Given the description of an element on the screen output the (x, y) to click on. 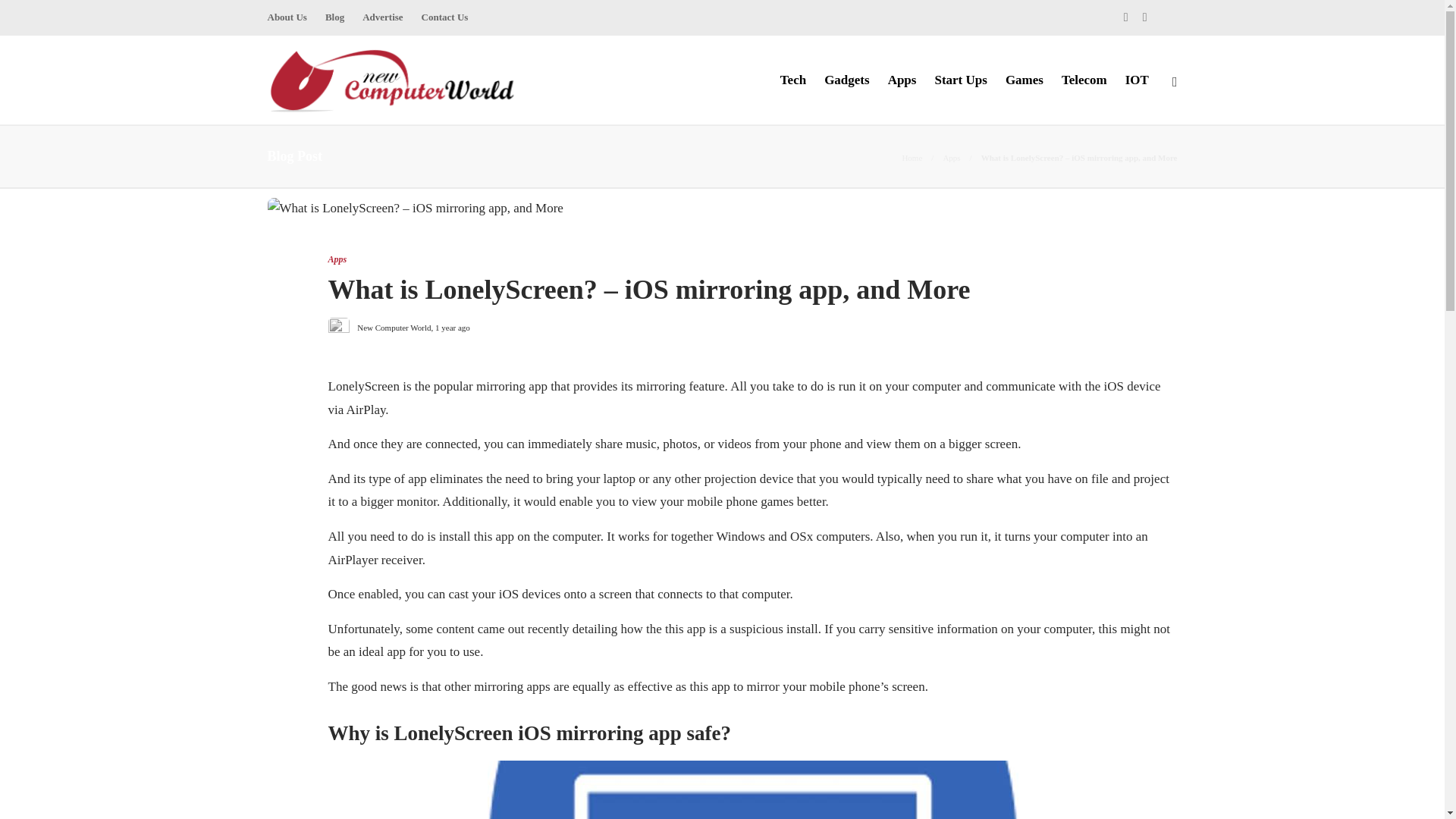
Advertise (382, 17)
About Us (285, 17)
Apps (950, 157)
Contact Us (445, 17)
Home (911, 157)
Home (911, 157)
New Computer World (393, 327)
Apps (336, 258)
1 year ago (452, 327)
Start Ups (960, 79)
